Given the description of an element on the screen output the (x, y) to click on. 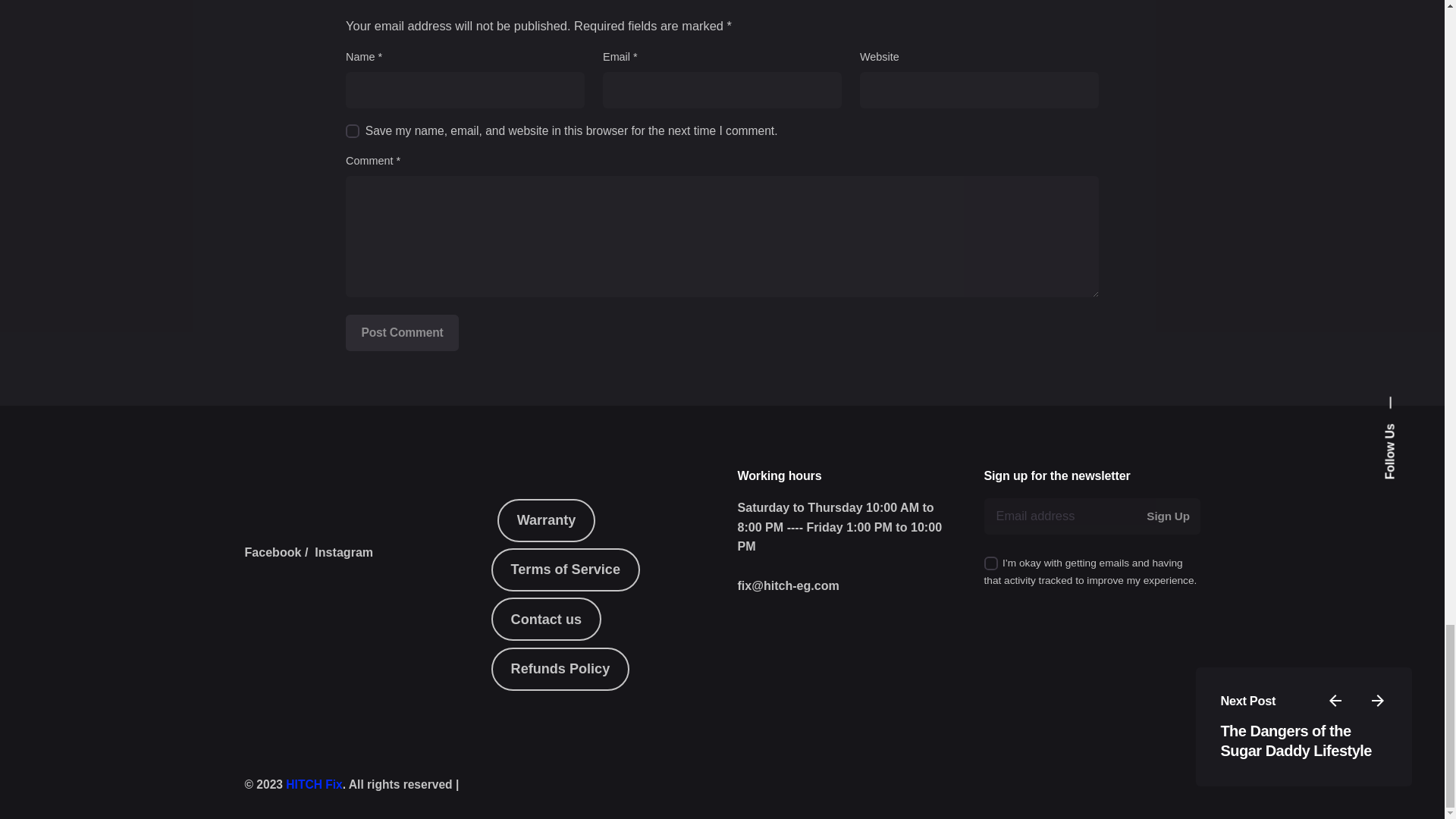
yes (352, 131)
Post Comment (402, 332)
